Given the description of an element on the screen output the (x, y) to click on. 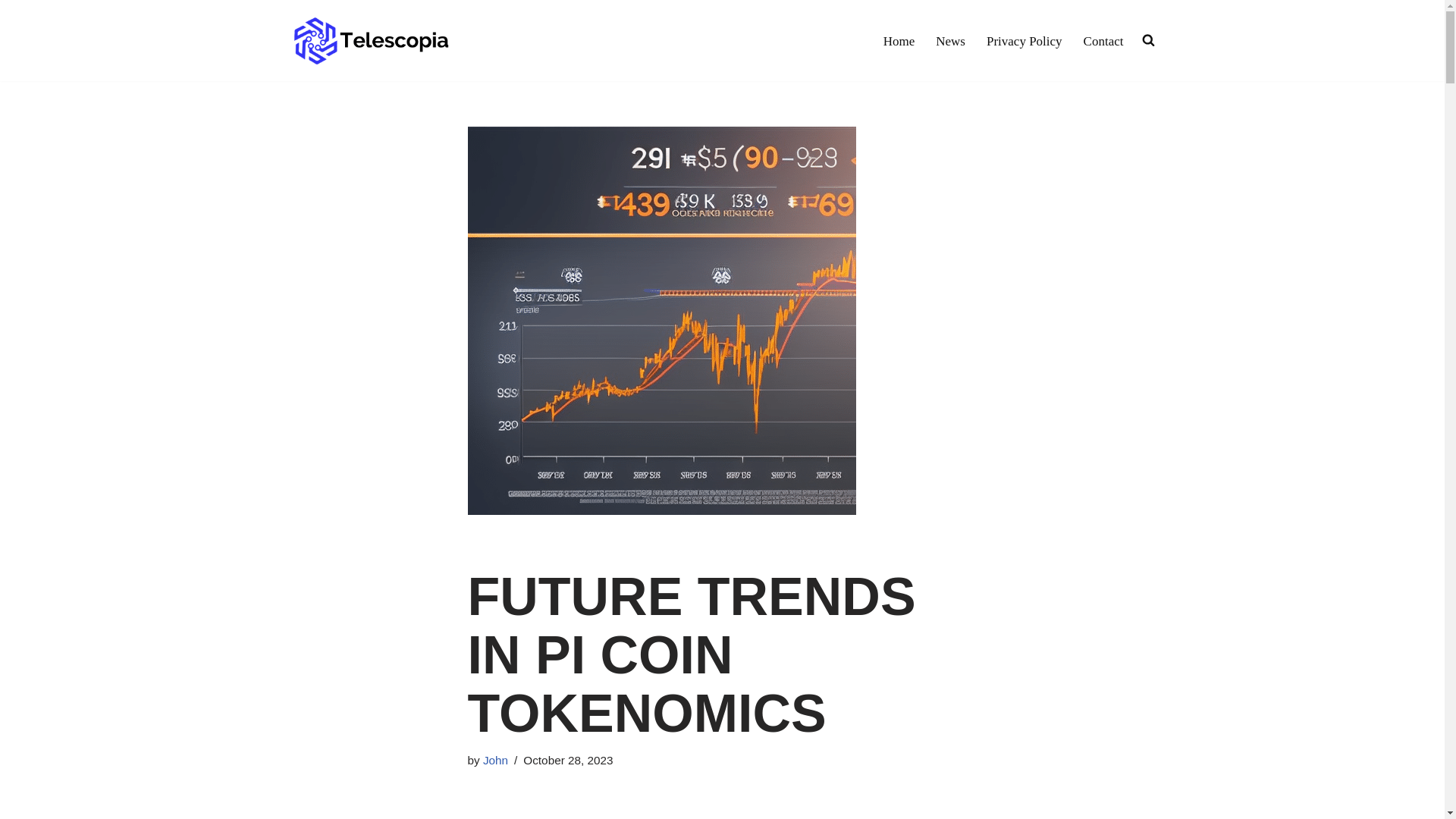
Home (899, 40)
Posts by John (495, 759)
John (495, 759)
News (950, 40)
Skip to content (11, 31)
Privacy Policy (1024, 40)
Contact (1103, 40)
